Given the description of an element on the screen output the (x, y) to click on. 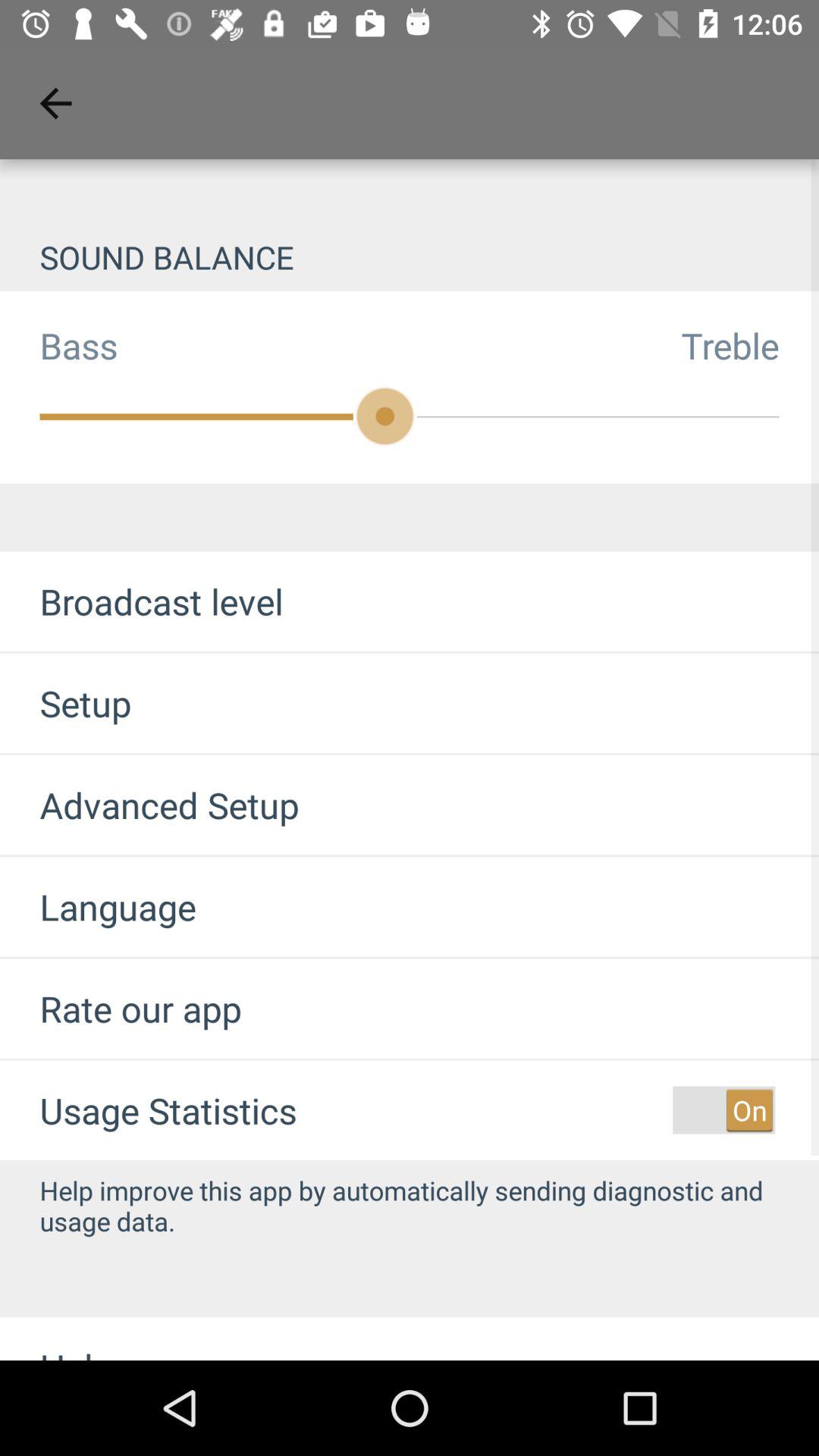
launch the help improve this item (409, 1205)
